Given the description of an element on the screen output the (x, y) to click on. 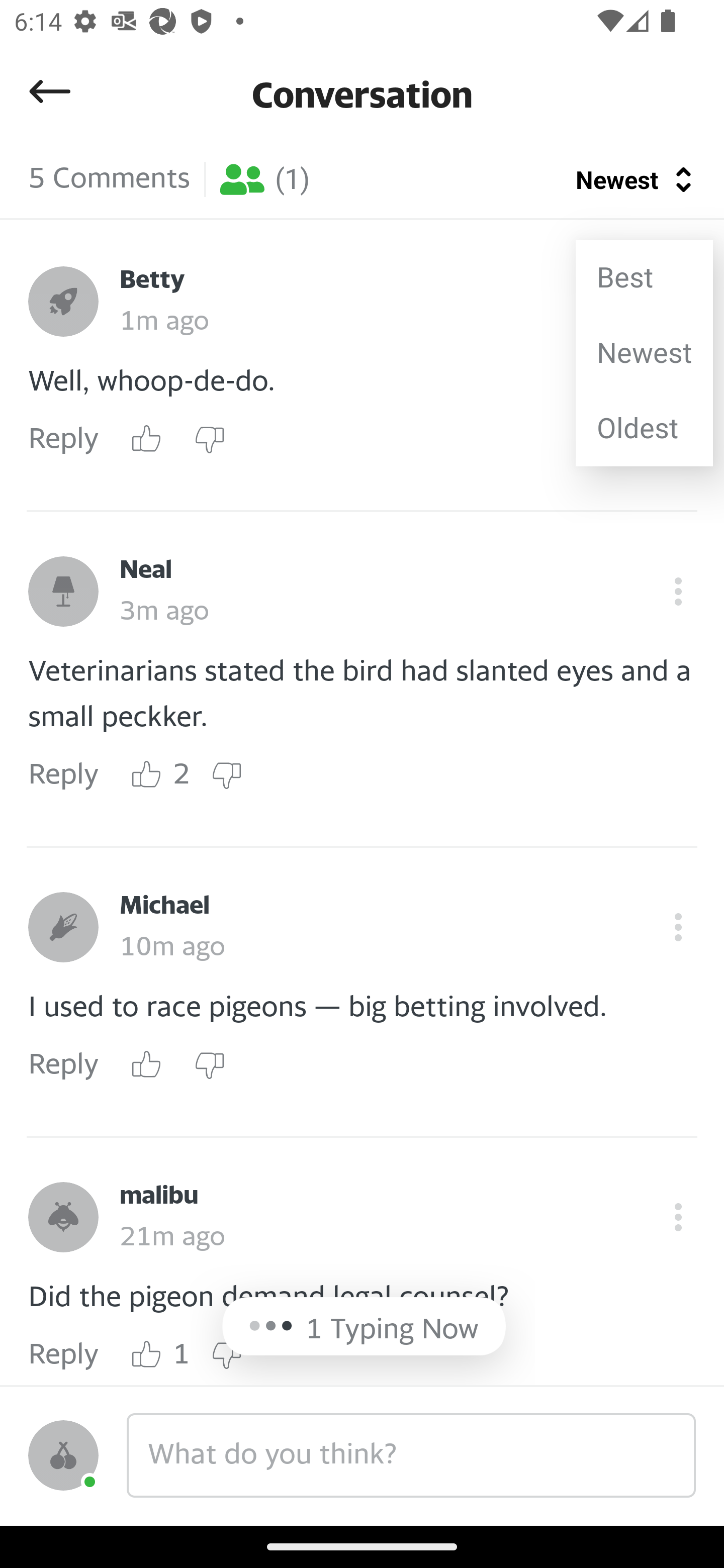
Best (644, 277)
Newest (644, 352)
Oldest (644, 427)
